Given the description of an element on the screen output the (x, y) to click on. 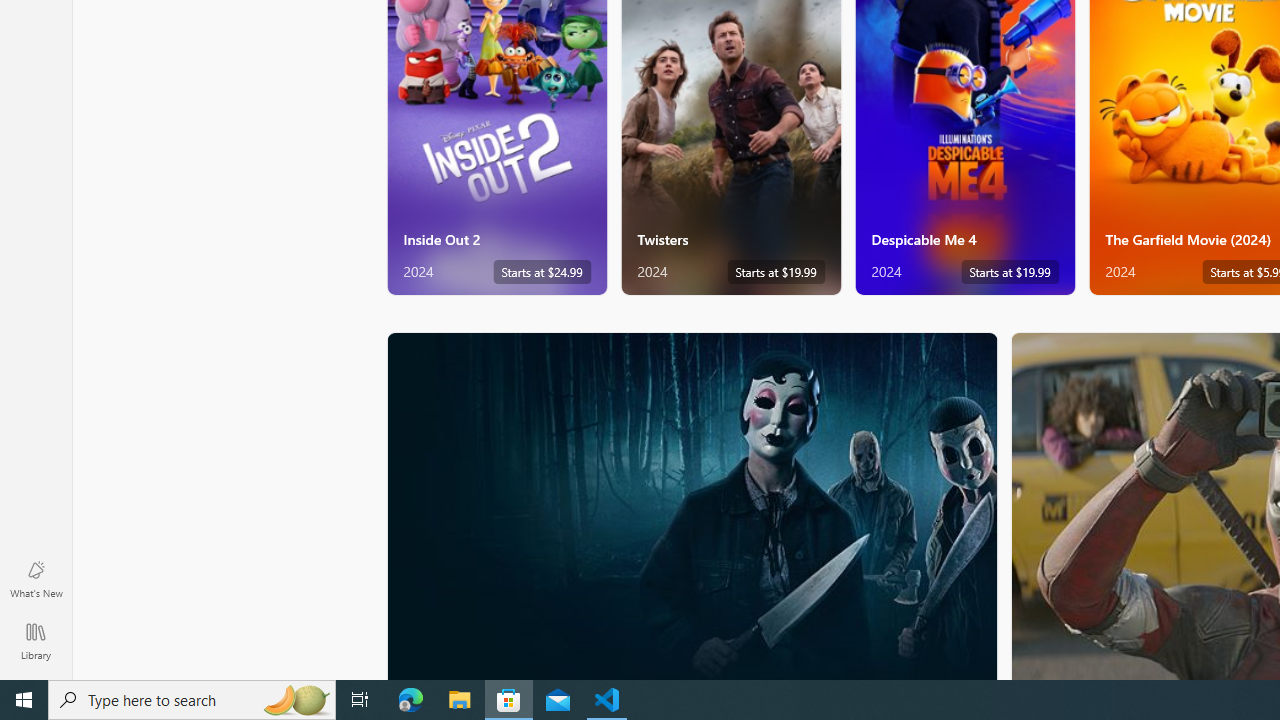
Library (35, 640)
What's New (35, 578)
Horror (692, 505)
AutomationID: PosterImage (690, 505)
